Given the description of an element on the screen output the (x, y) to click on. 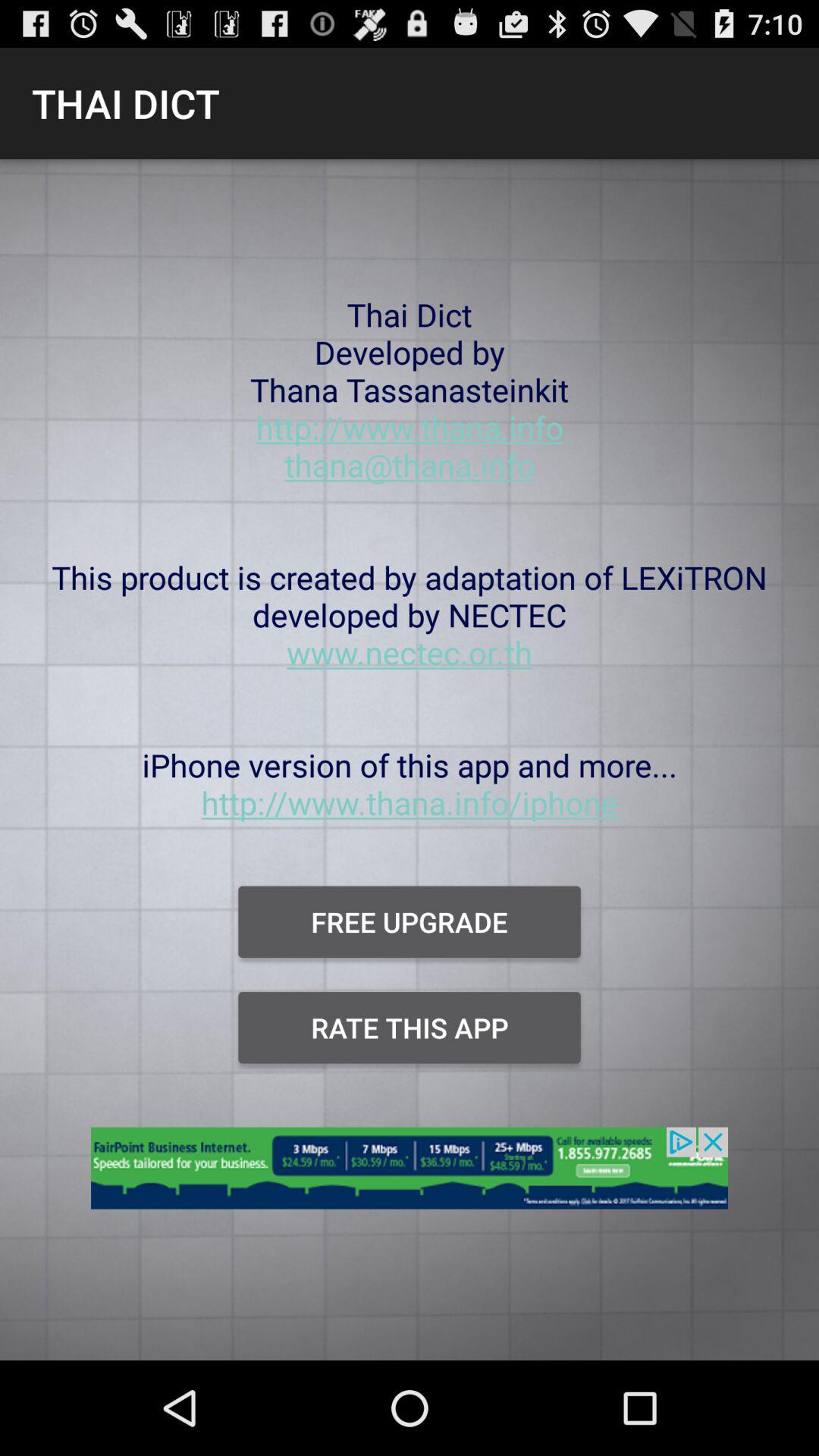
plays advertisement (409, 1176)
